Given the description of an element on the screen output the (x, y) to click on. 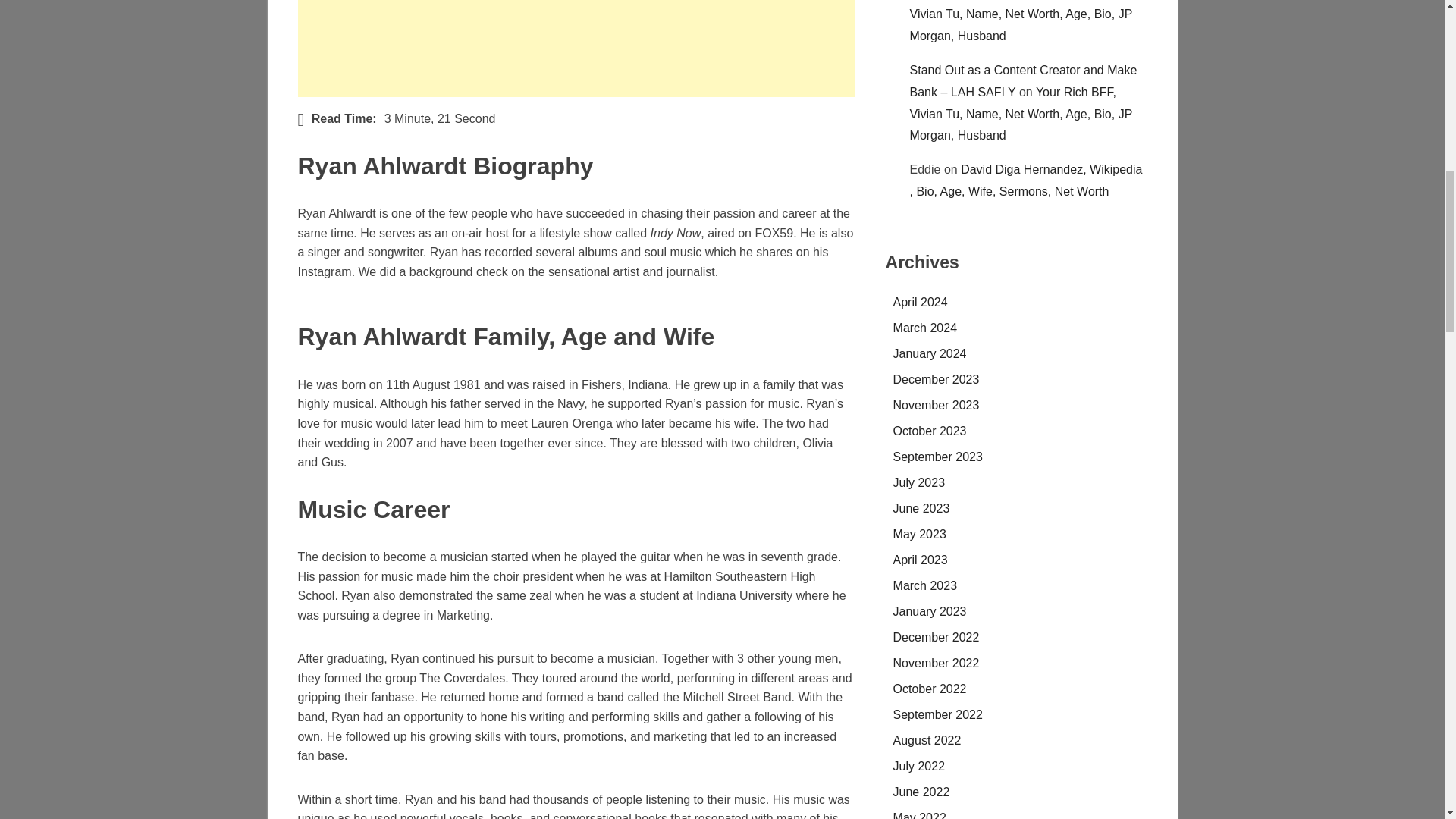
Advertisement (575, 48)
